Given the description of an element on the screen output the (x, y) to click on. 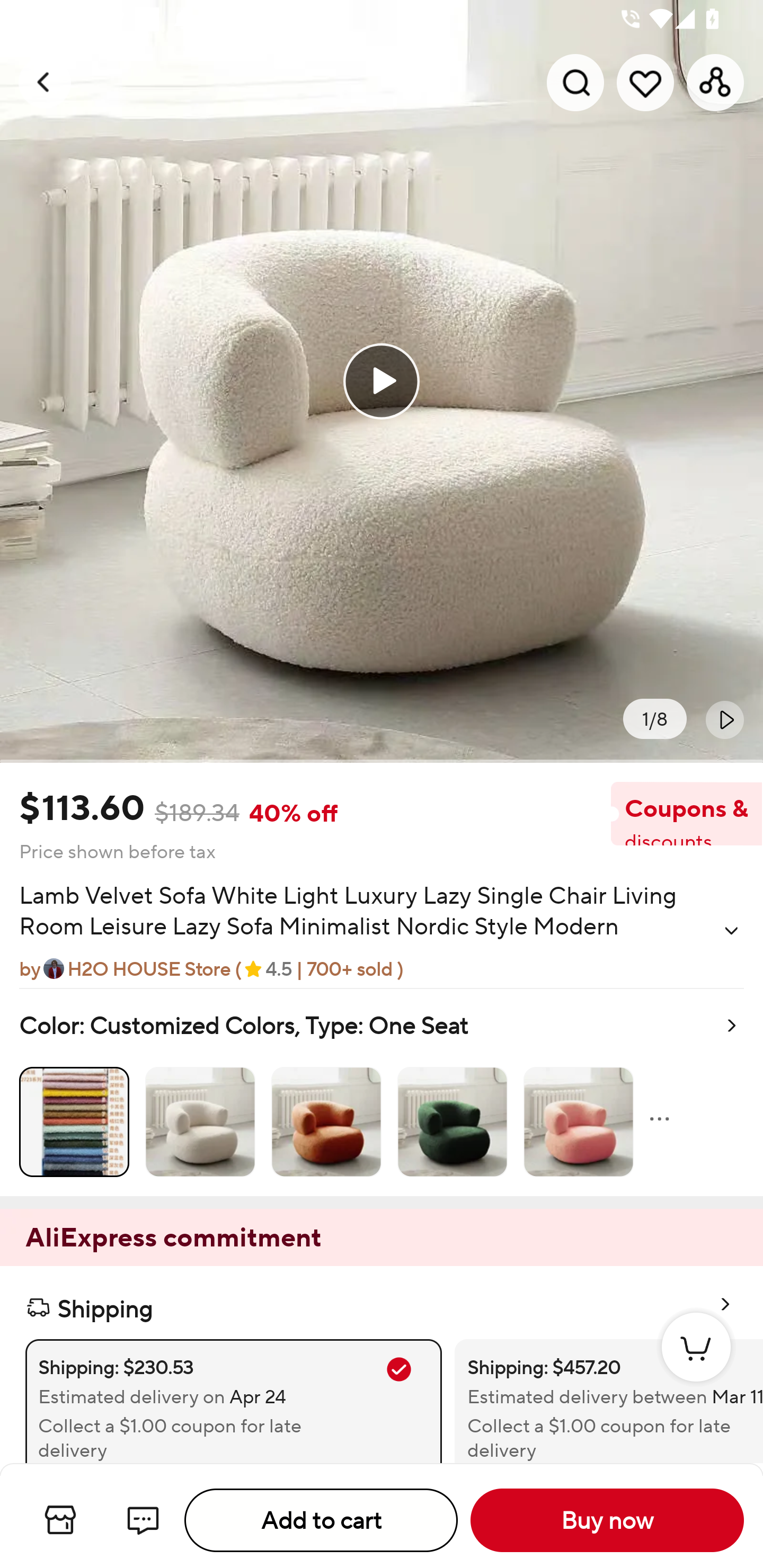
0.0 (381, 381)
Navigate up (44, 82)
 (724, 719)
 (730, 930)
Color: Customized Colors, Type: One Seat  (381, 1092)
Add to cart (320, 1520)
Buy now (606, 1520)
